Given the description of an element on the screen output the (x, y) to click on. 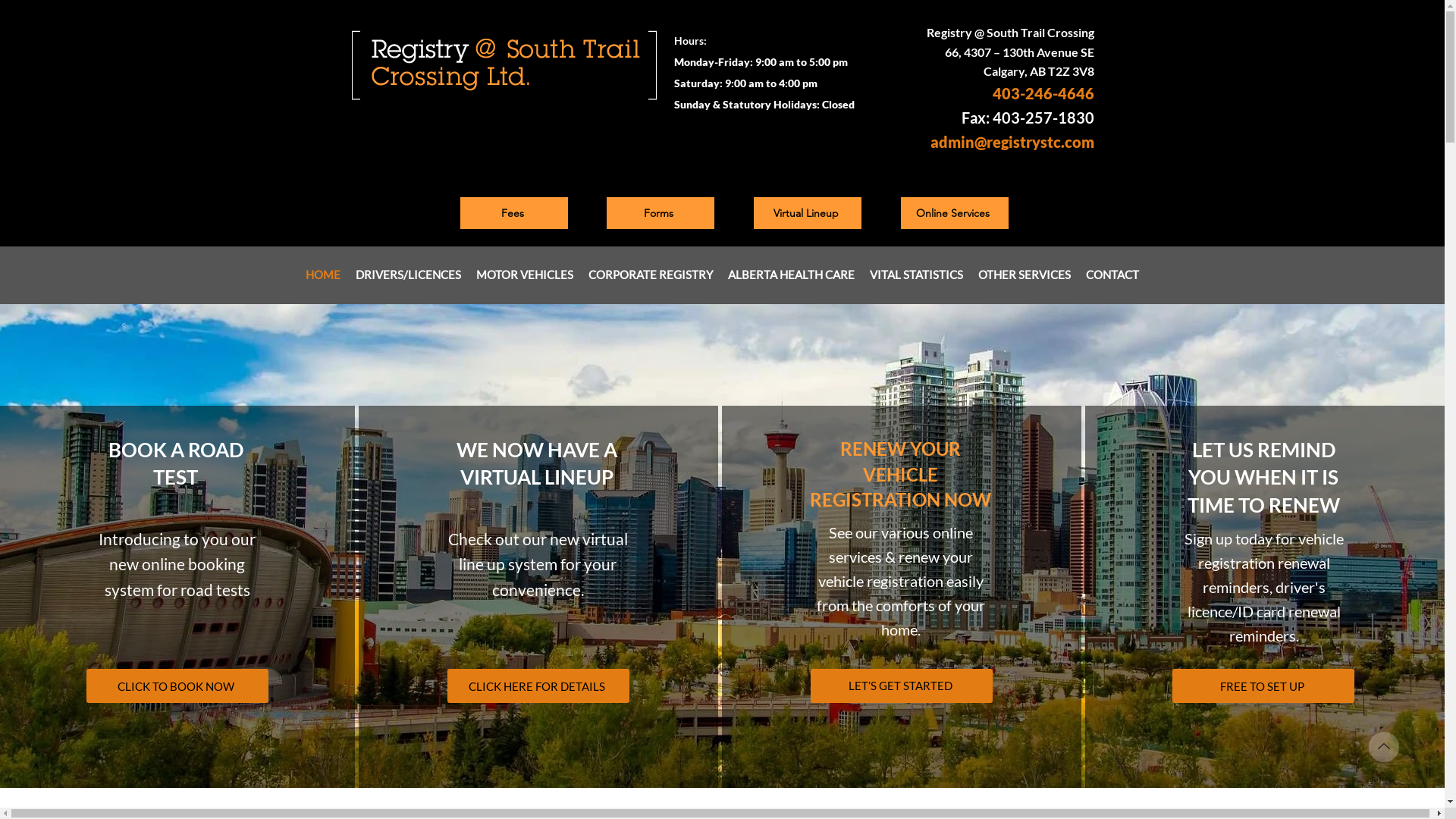
CLICK HERE FOR DETAILS Element type: text (538, 685)
VITAL STATISTICS Element type: text (916, 274)
403-246-4646 Element type: text (1042, 93)
FREE TO SET UP Element type: text (1263, 685)
Forms Element type: text (660, 213)
ALBERTA HEALTH CARE Element type: text (791, 274)
admin@registrystc.com Element type: text (1011, 141)
HOME Element type: text (322, 274)
CORPORATE REGISTRY Element type: text (650, 274)
Fees Element type: text (513, 213)
Virtual Lineup Element type: text (807, 213)
Online Services Element type: text (954, 213)
CLICK TO BOOK NOW Element type: text (177, 685)
